Given the description of an element on the screen output the (x, y) to click on. 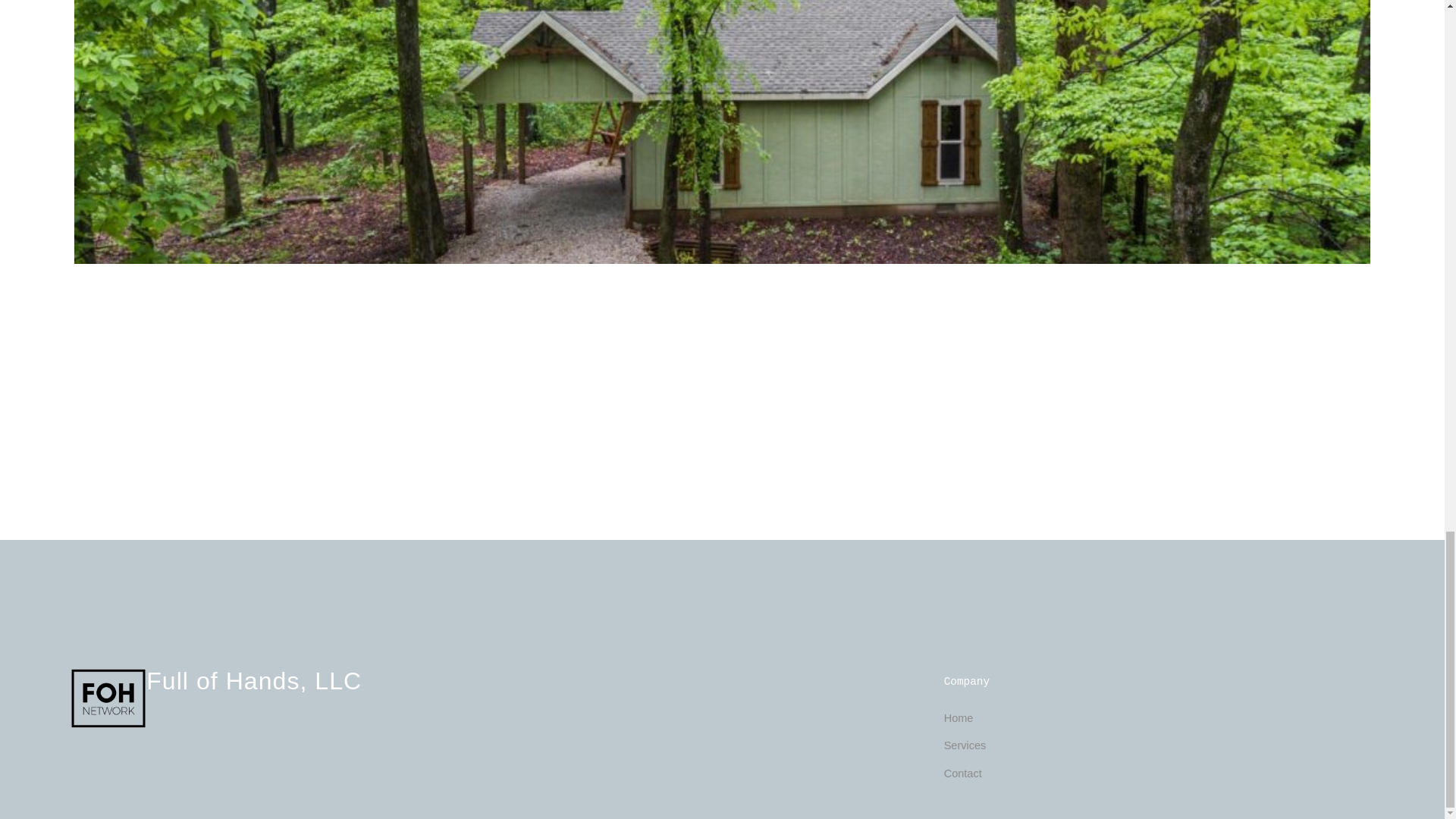
Full of Hands, LLC (254, 682)
Contact (962, 773)
Services (965, 745)
Home (958, 717)
